Given the description of an element on the screen output the (x, y) to click on. 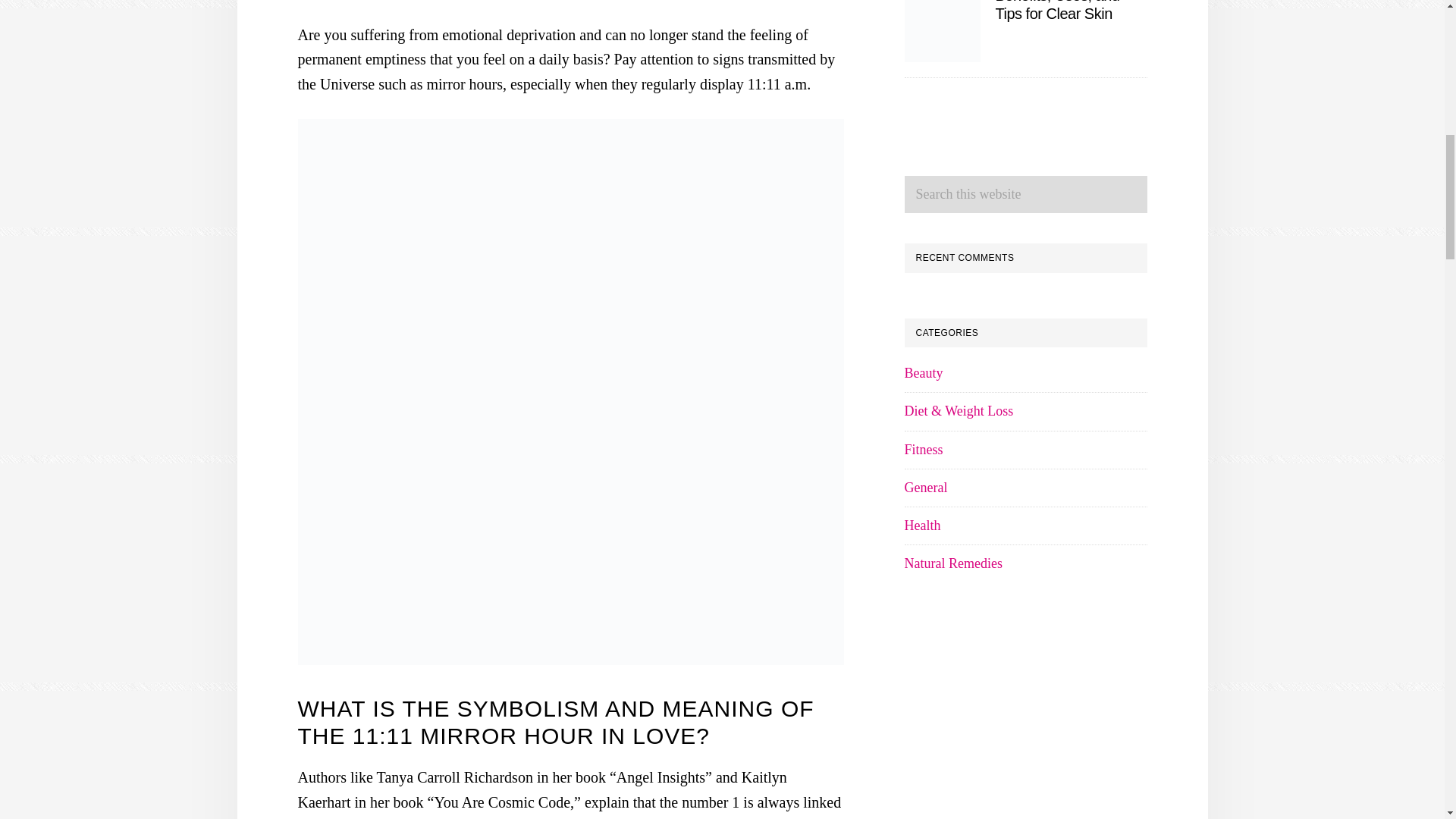
General (925, 487)
Natural Remedies (952, 563)
Health (922, 525)
Fitness (923, 449)
Beauty (923, 372)
Benefits, Uses, and Tips for Clear Skin (1056, 11)
